Given the description of an element on the screen output the (x, y) to click on. 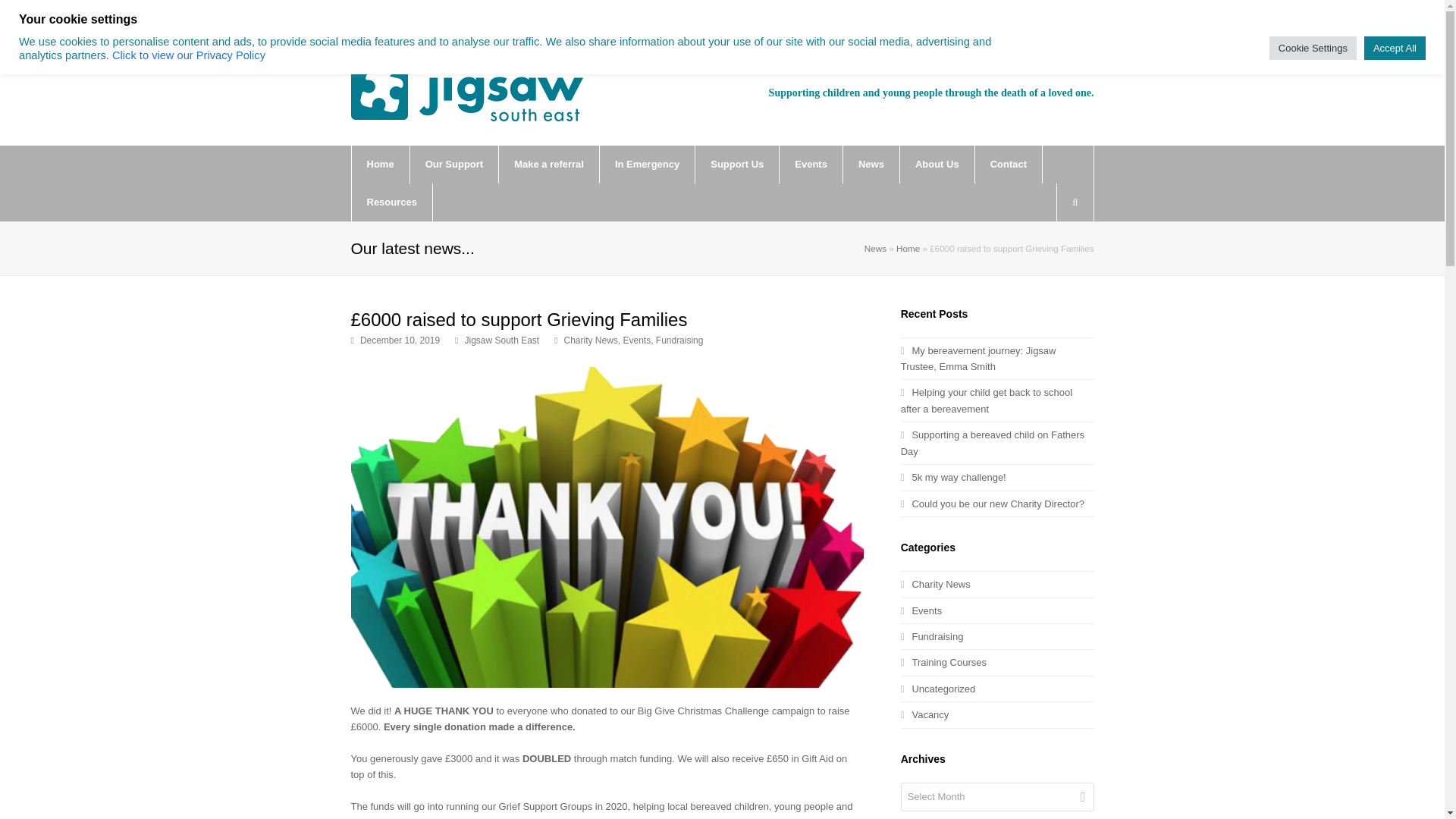
Home (380, 164)
About Us (936, 164)
Our Support (454, 164)
Fundraising (679, 339)
Donate Now (1031, 26)
News (871, 164)
Posts by Jigsaw South East (502, 339)
Charity News (590, 339)
Events (810, 164)
Make a referral (548, 164)
In Emergency (646, 164)
instagram (454, 23)
Events (636, 339)
youtube (424, 23)
facebook (393, 23)
